Given the description of an element on the screen output the (x, y) to click on. 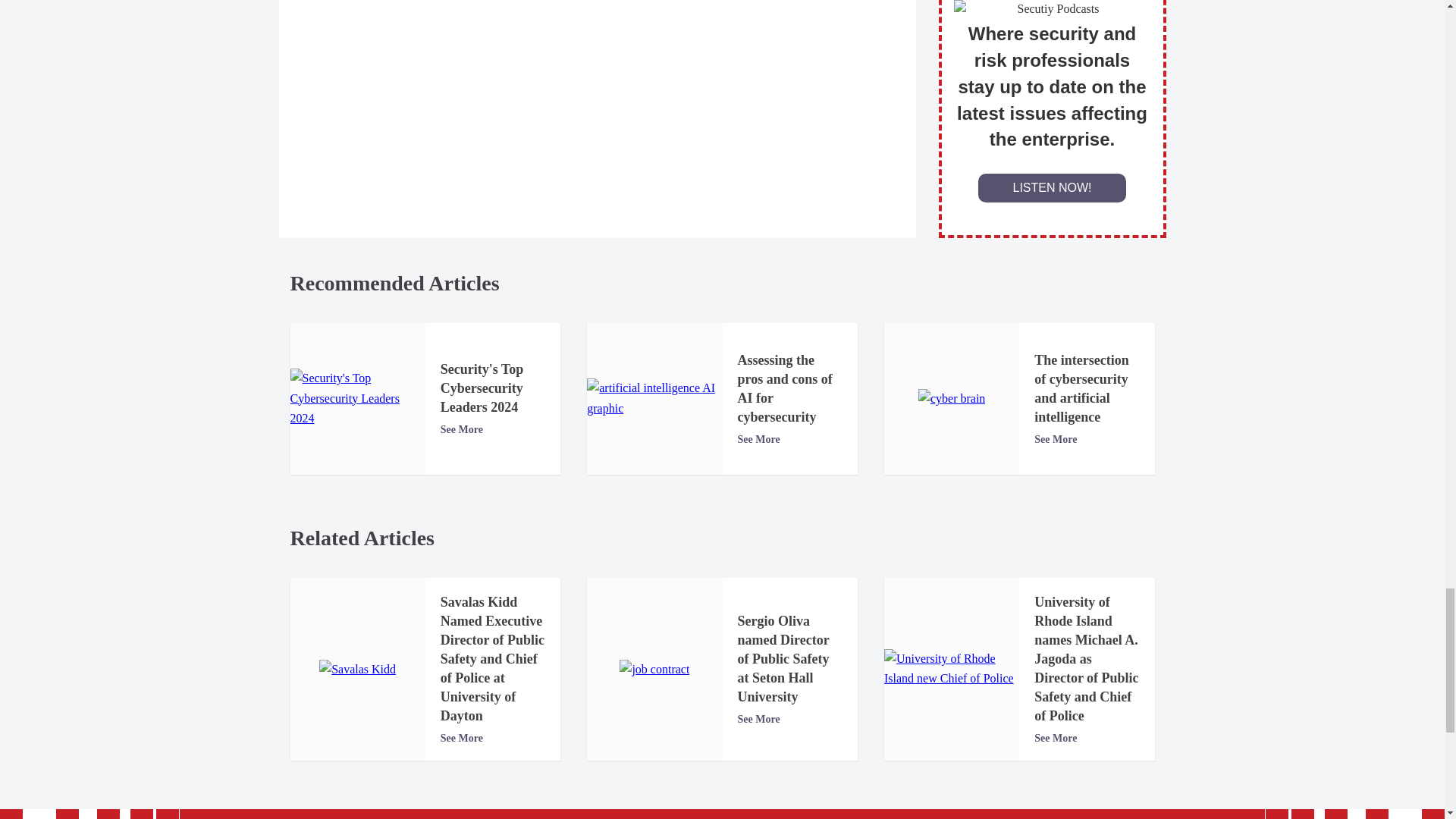
Security's Top Cybersecurity Leaders 2024 (357, 398)
Savalas Kidd (357, 669)
cyber brain (951, 398)
Artificial Intelligence (654, 398)
